Given the description of an element on the screen output the (x, y) to click on. 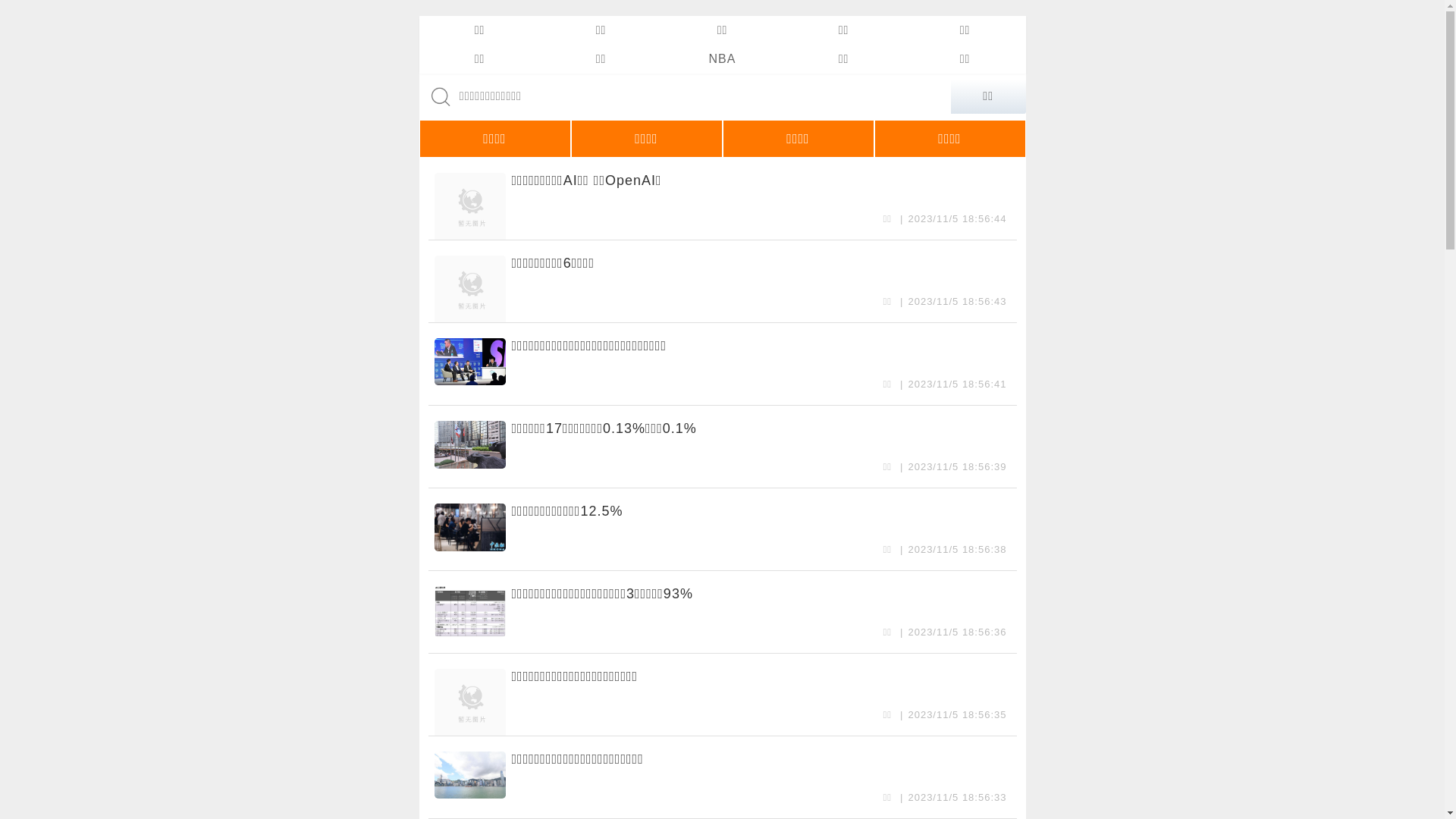
NBA Element type: text (721, 58)
